Given the description of an element on the screen output the (x, y) to click on. 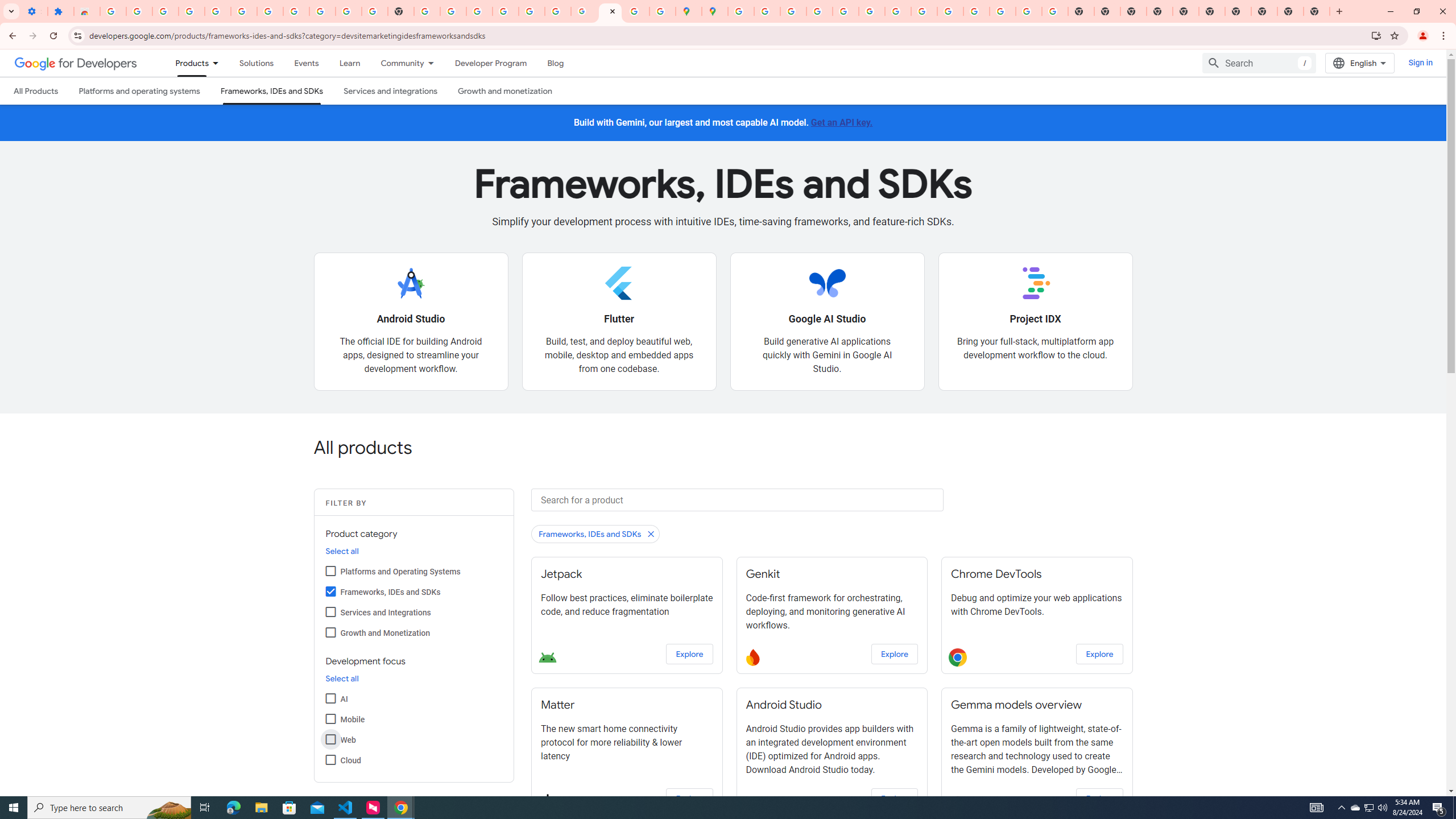
Sign in - Google Accounts (269, 11)
Install Google Developers (1376, 35)
Sign in - Google Accounts (740, 11)
Platforms and Operating Systems (330, 570)
Privacy Help Center - Policies Help (792, 11)
Services and Integrations (330, 611)
Explore (1098, 798)
All Products (35, 90)
Delete photos & videos - Computer - Google Photos Help (191, 11)
